Given the description of an element on the screen output the (x, y) to click on. 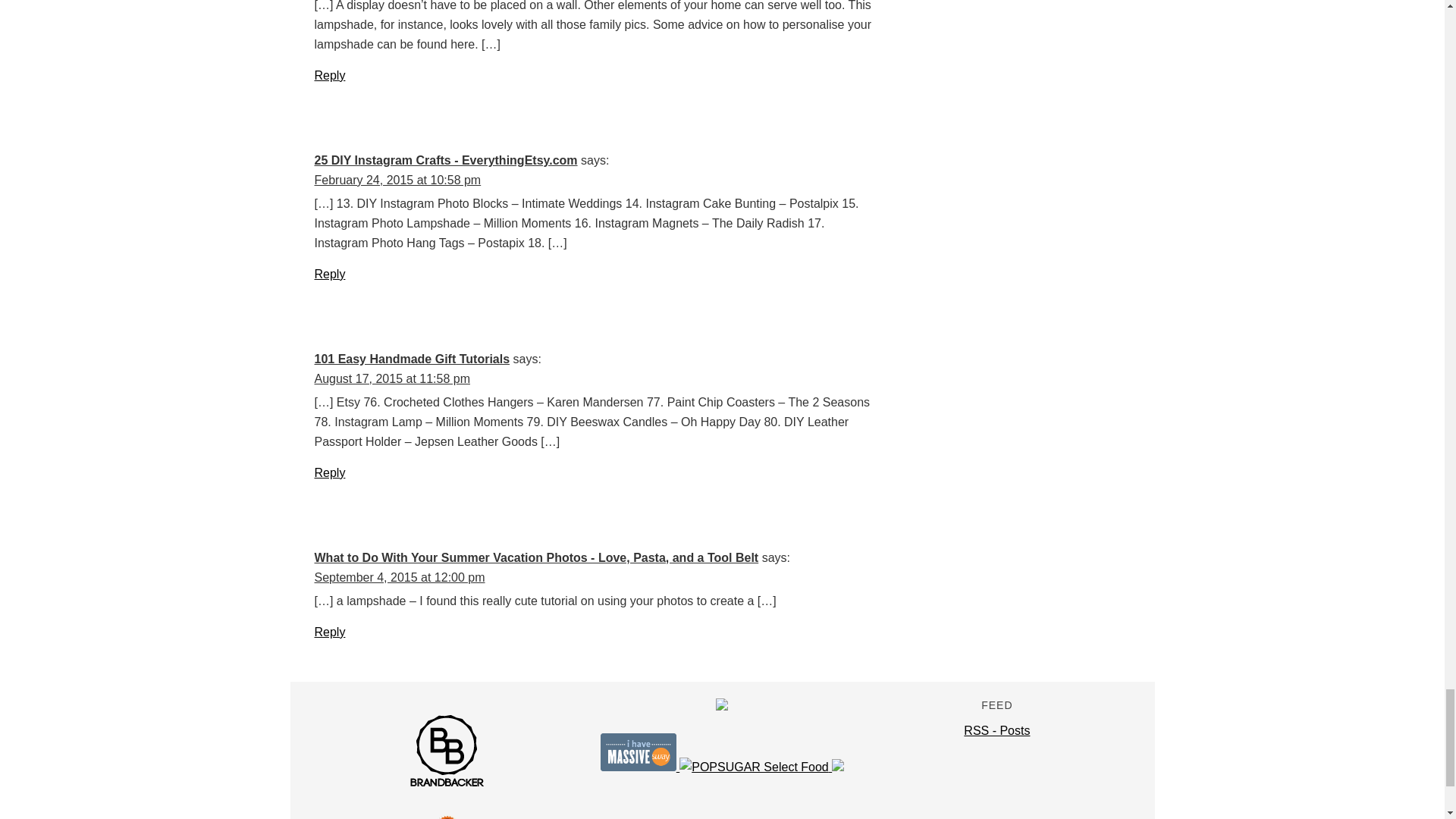
Reply (329, 74)
BrandBacker Member (446, 784)
I Have Massive Sway (639, 766)
Subscribe to posts (996, 730)
25 DIY Instagram Crafts - EverythingEtsy.com (445, 160)
